Given the description of an element on the screen output the (x, y) to click on. 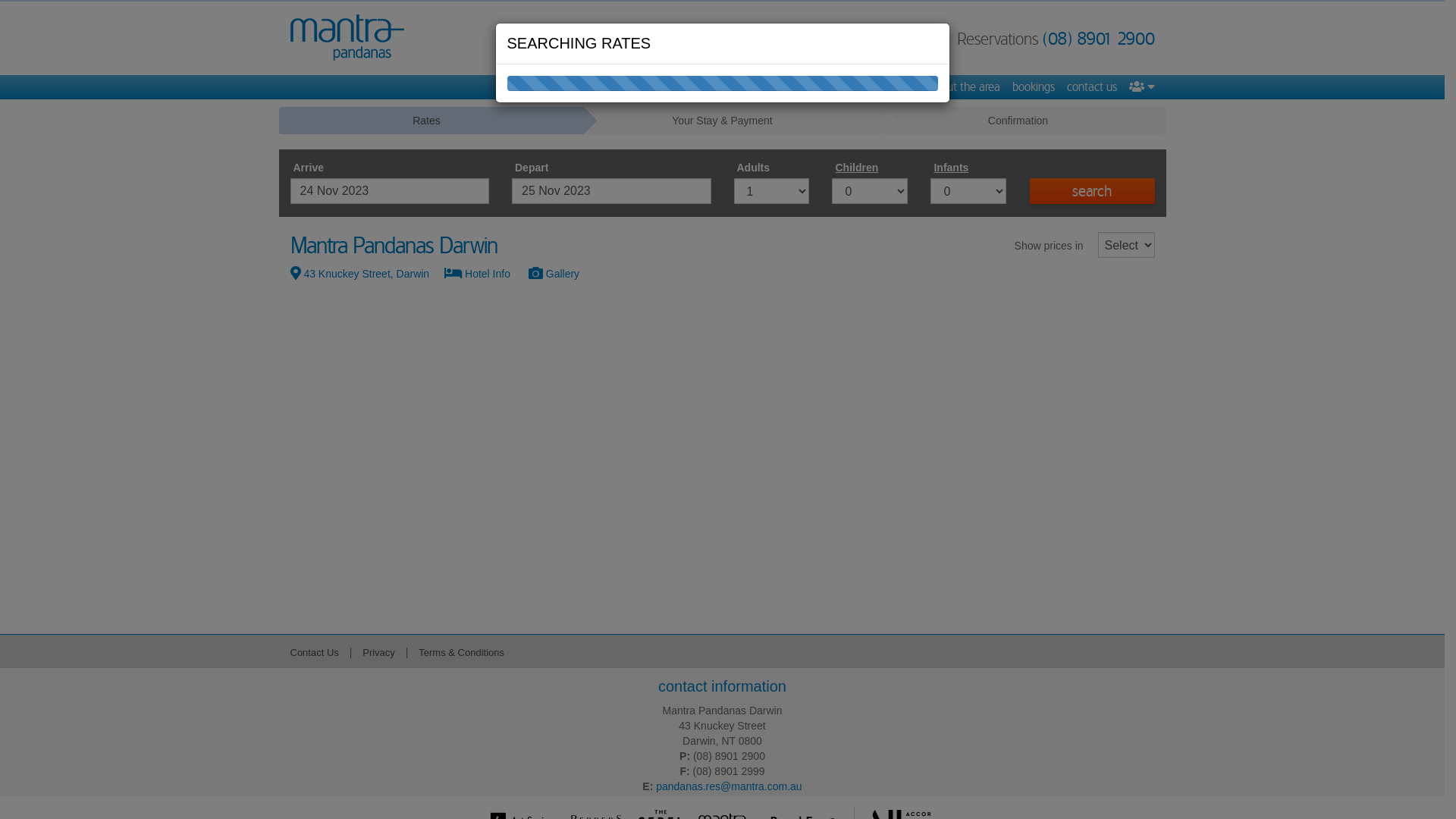
Contact Us Element type: text (313, 652)
rooms Element type: text (730, 87)
dining Element type: text (820, 87)
pandanas.res@mantra.com.au Element type: text (728, 786)
(08) 8901 2900 Element type: text (1097, 38)
Terms & Conditions Element type: text (461, 652)
Search Element type: text (1091, 190)
overview Element type: text (638, 87)
contact us Element type: text (1091, 87)
43 Knuckey Street, Darwin Element type: text (366, 273)
Mantra Pandanas Element type: hover (346, 37)
gallery Element type: text (687, 87)
Hotel Info Element type: text (486, 273)
Privacy Element type: text (378, 652)
Gallery Element type: text (561, 273)
bookings Element type: text (1032, 87)
facilities Element type: text (775, 87)
about the area Element type: text (963, 87)
conferences Element type: text (881, 87)
